Given the description of an element on the screen output the (x, y) to click on. 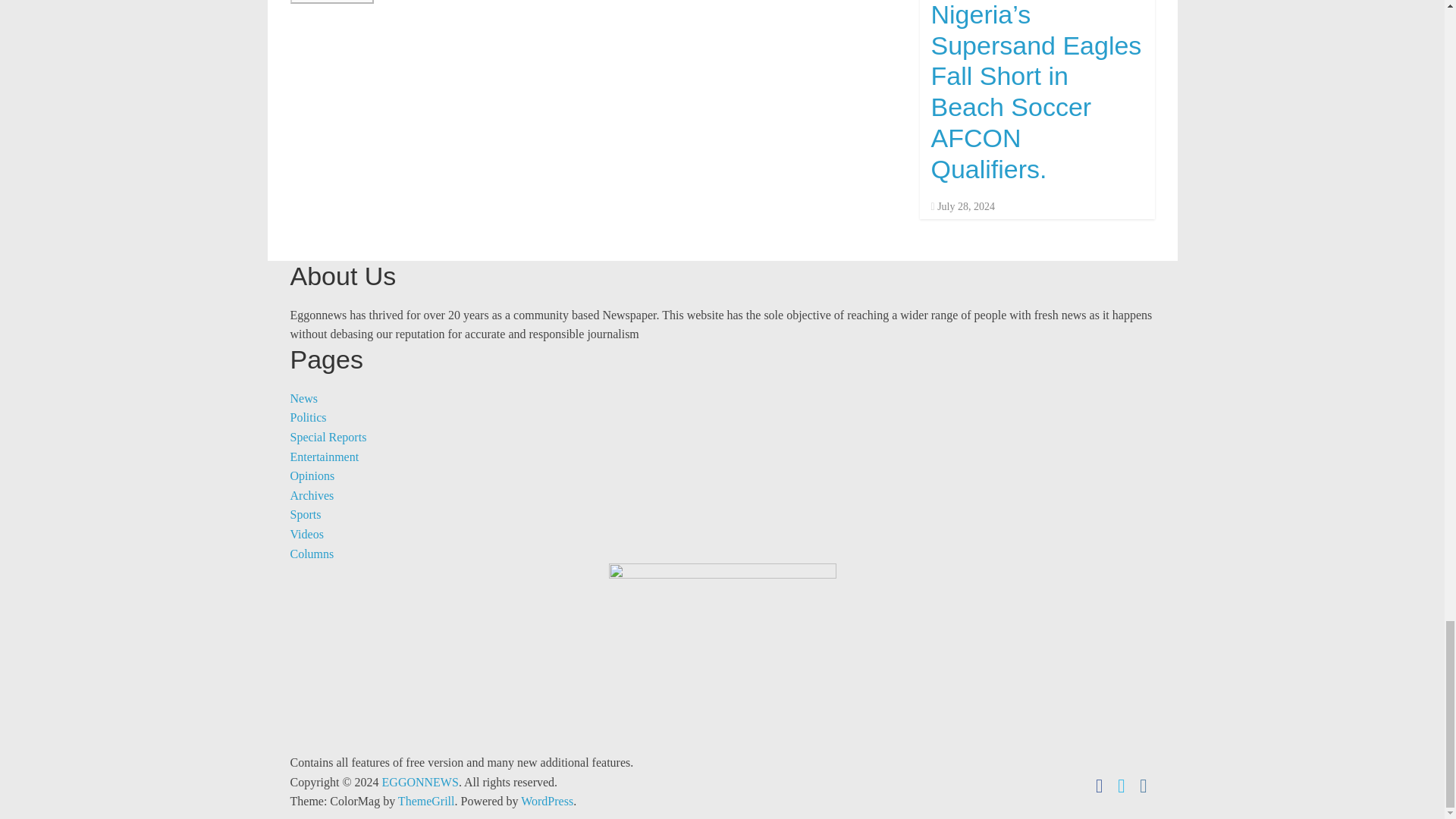
Post Comment (331, 2)
